Given the description of an element on the screen output the (x, y) to click on. 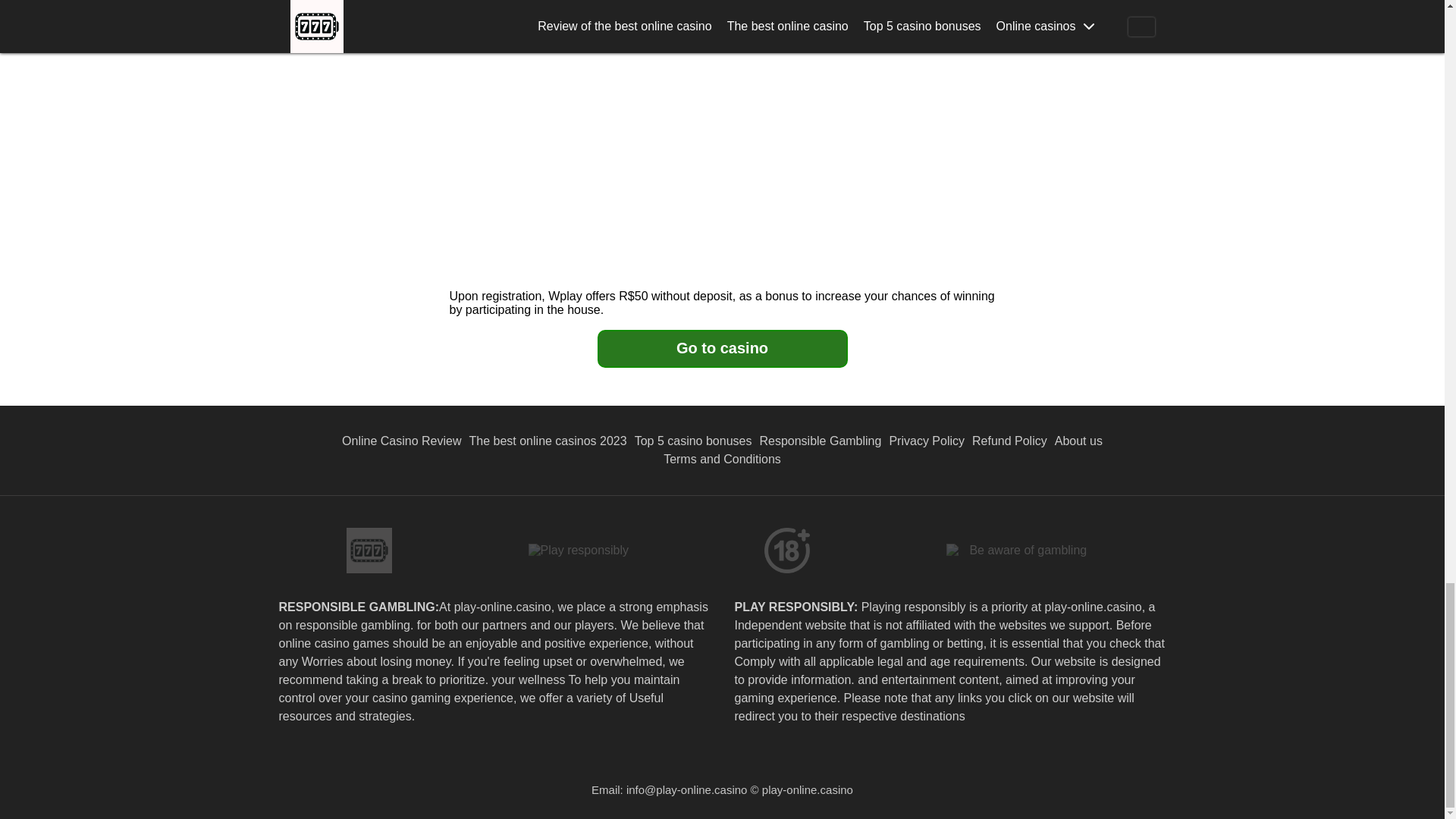
Refund Policy (1009, 440)
Go to casino (721, 348)
Top 5 casino bonuses (692, 440)
Online Casino Review (400, 440)
The best online casinos 2023 (547, 440)
Responsible Gambling (820, 440)
Privacy Policy (926, 440)
